Given the description of an element on the screen output the (x, y) to click on. 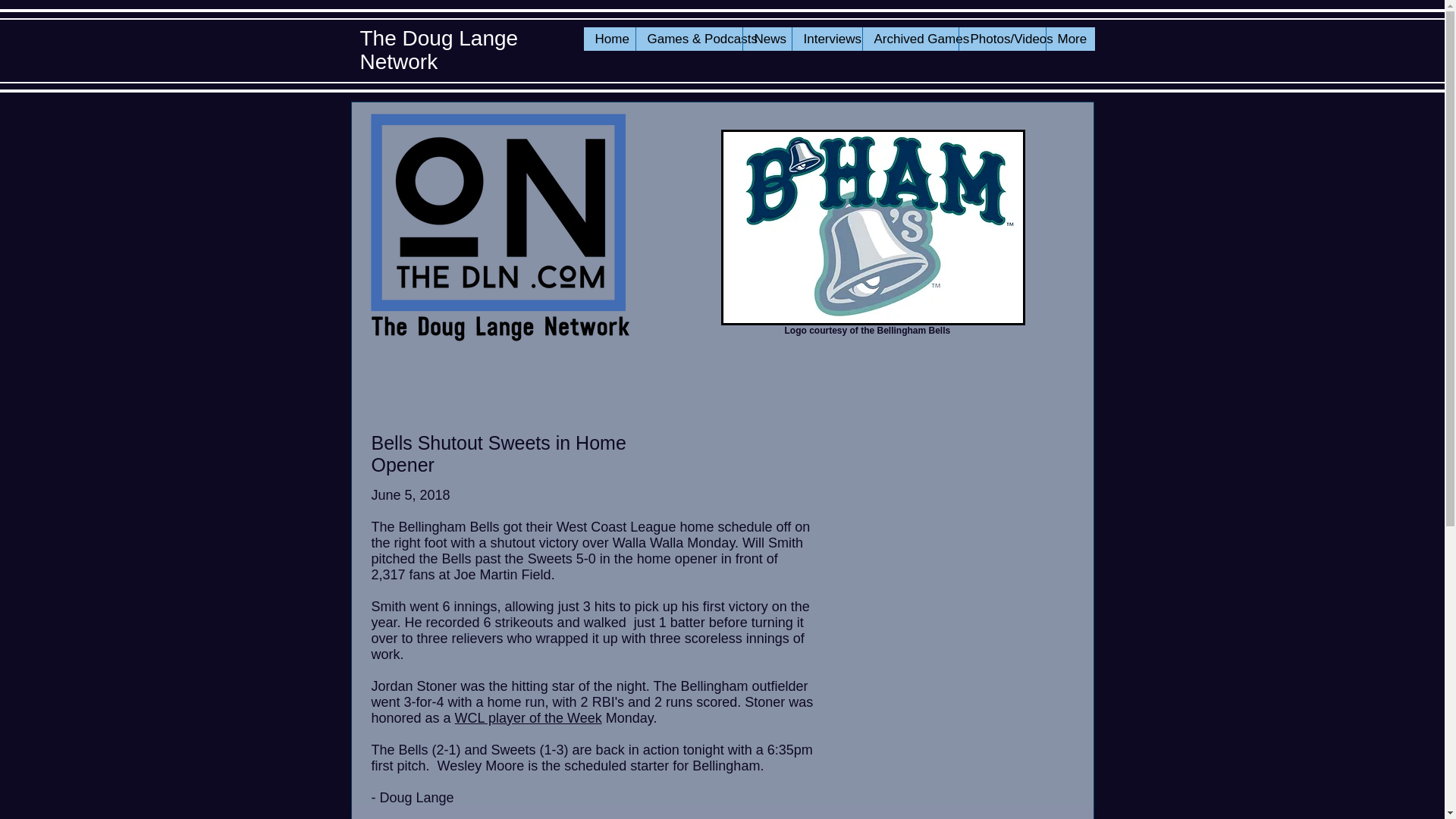
The Doug Lange Network  (438, 49)
Home (608, 38)
